Given the description of an element on the screen output the (x, y) to click on. 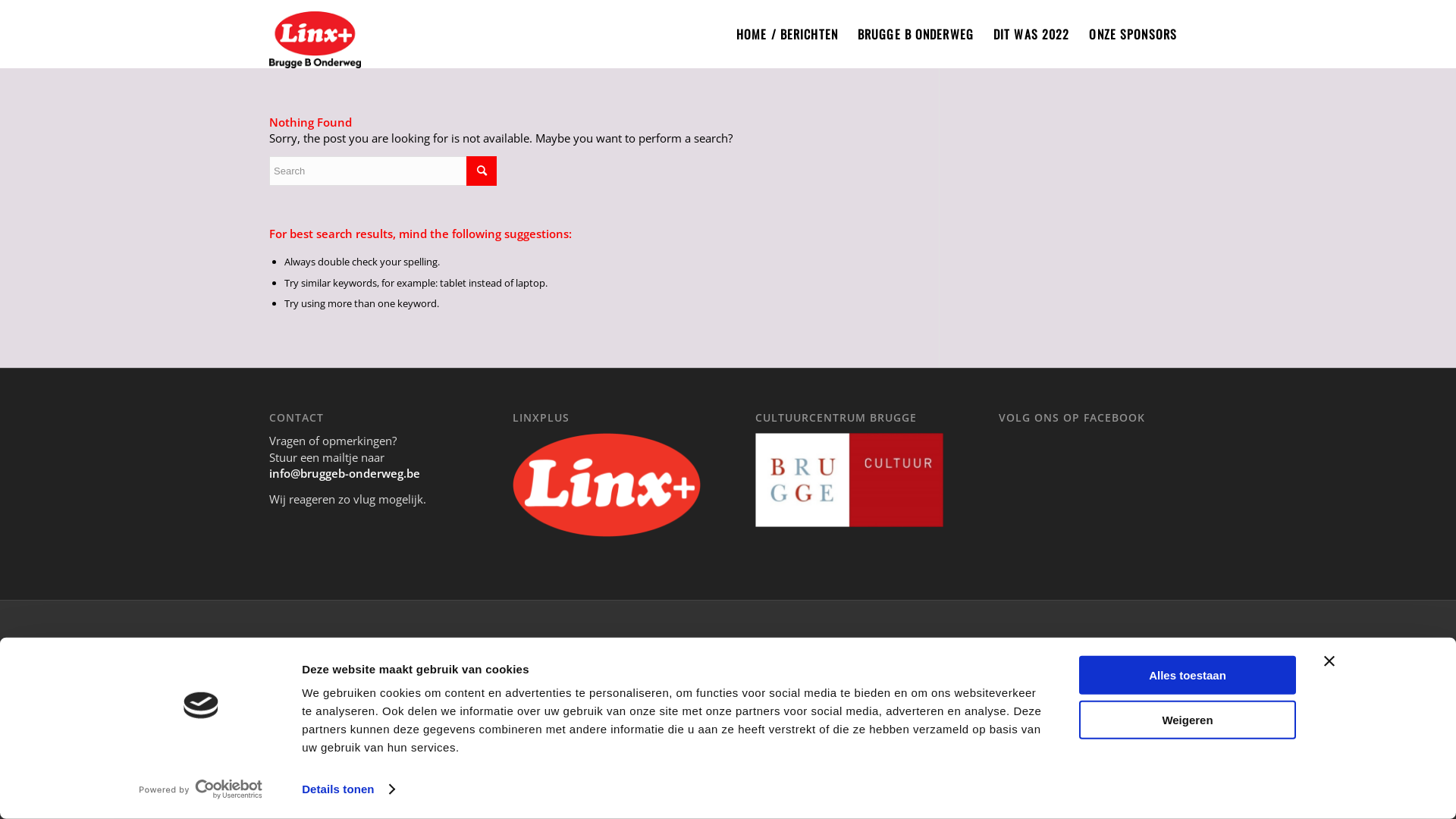
Weigeren Element type: text (1187, 718)
HOME / BERICHTEN Element type: text (786, 34)
Details tonen Element type: text (347, 789)
BRUGGE B ONDERWEG Element type: text (915, 34)
ONZE SPONSORS Element type: text (1132, 34)
Logo_BruggeB_Onderweg_1_lijn Element type: hover (314, 34)
Alles toestaan Element type: text (1187, 674)
DIT WAS 2022 Element type: text (1031, 34)
